Given the description of an element on the screen output the (x, y) to click on. 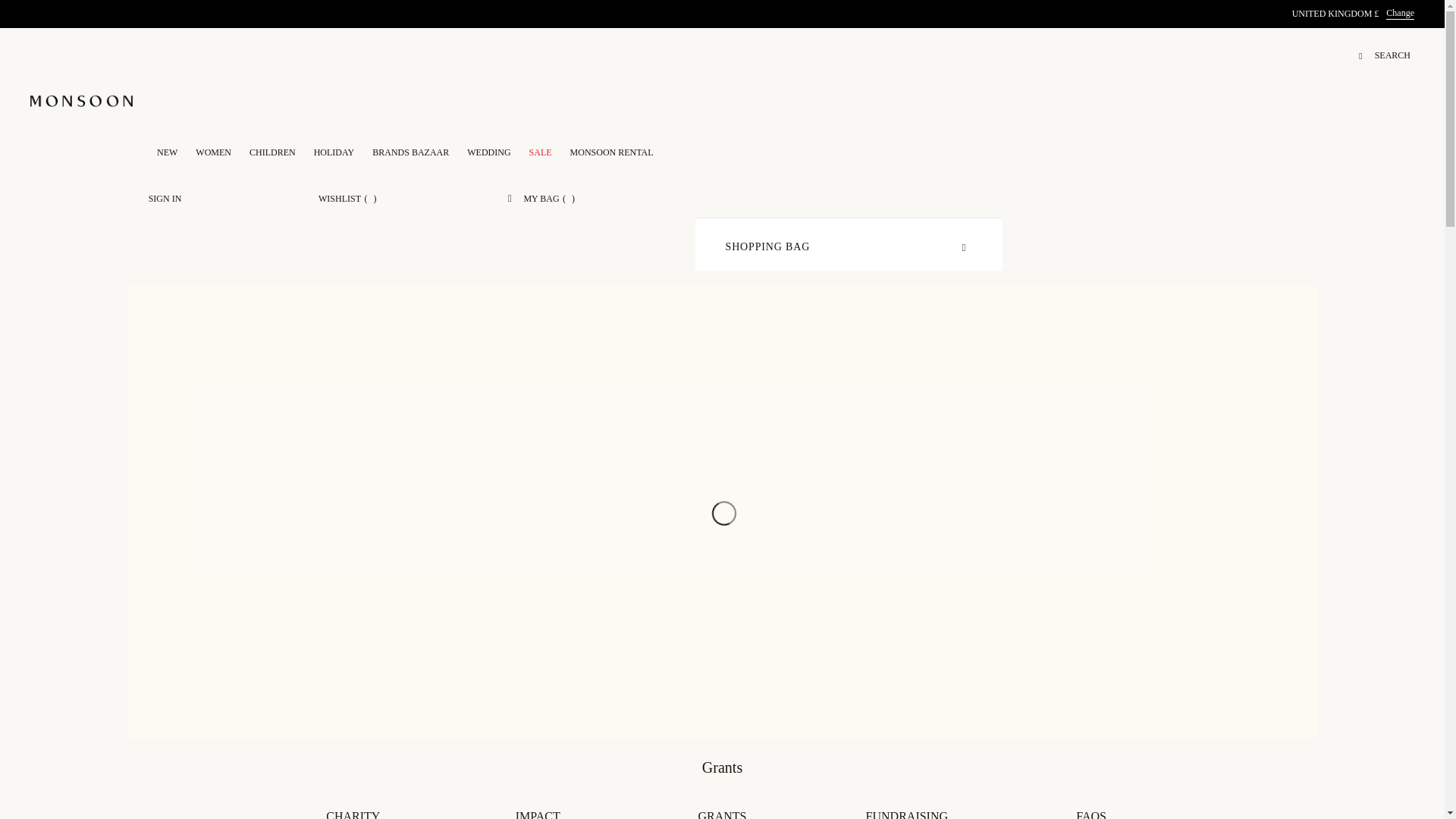
BRANDS BAZAAR (410, 148)
Change (1399, 13)
FAQS (1090, 814)
MY BAG   (541, 194)
FUNDRAISING (906, 814)
Sign In (165, 194)
CHILDREN (271, 148)
MONSOON RENTAL (611, 148)
SIGN IN (165, 194)
CHARITY (353, 814)
